Given the description of an element on the screen output the (x, y) to click on. 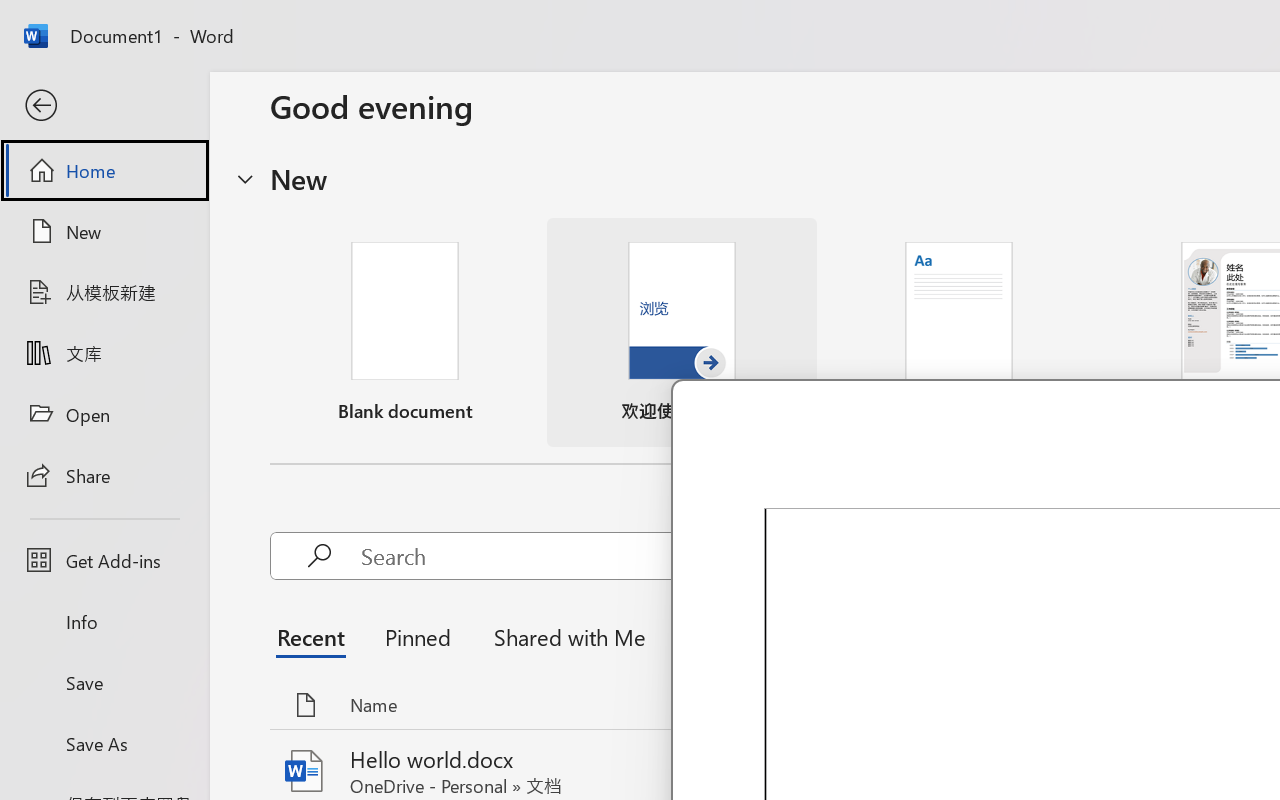
Pinned (417, 636)
Shared with Me (563, 636)
Blank document (405, 332)
Search (665, 555)
Save As (104, 743)
Info (104, 621)
Recent (316, 636)
Get Add-ins (104, 560)
Back (104, 106)
